Given the description of an element on the screen output the (x, y) to click on. 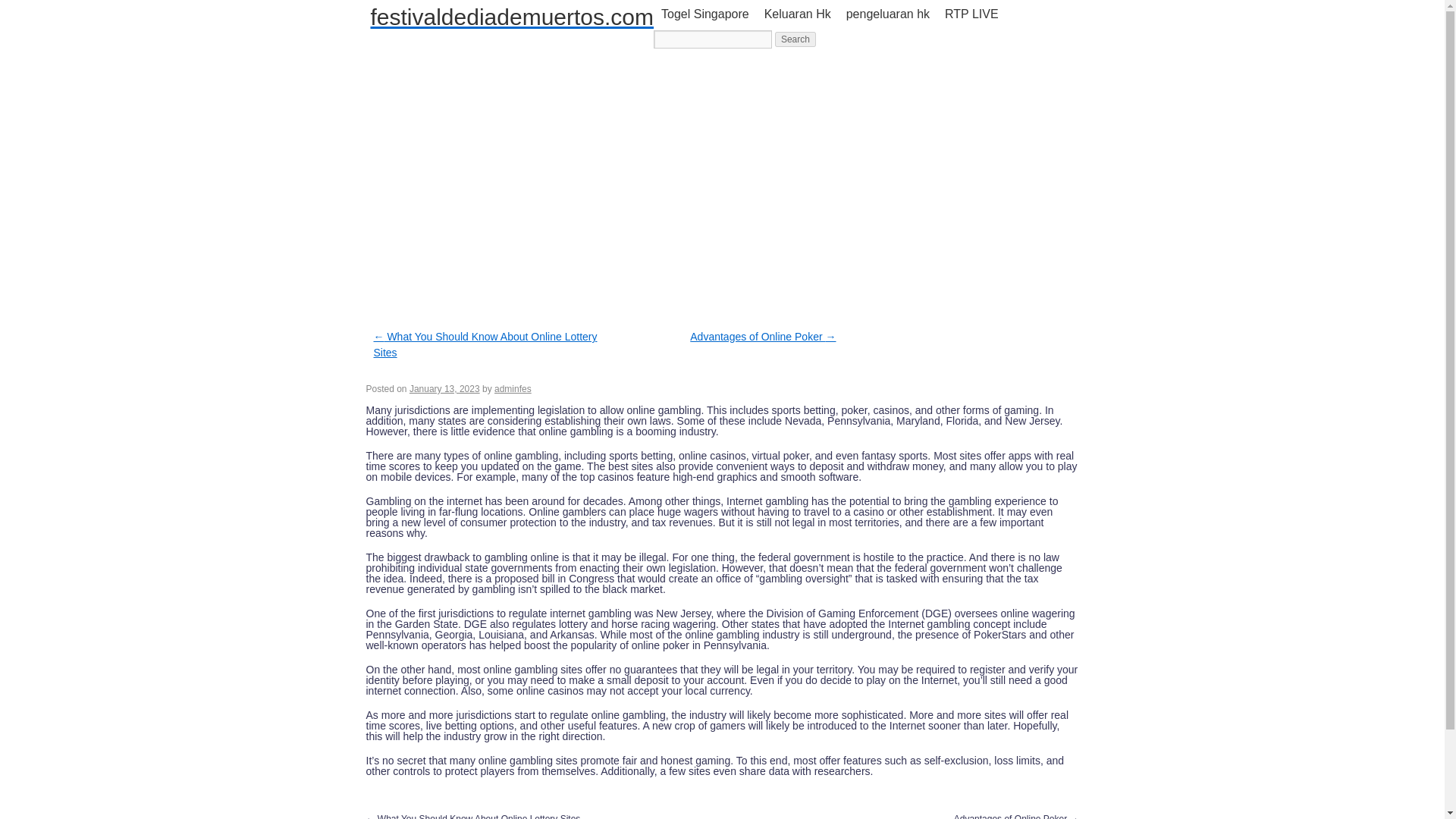
January 13, 2023 (444, 388)
festivaldediademuertos.com (511, 16)
1:46 am (444, 388)
Search (794, 38)
Search (794, 38)
View all posts by adminfes (513, 388)
pengeluaran hk (887, 14)
RTP LIVE (971, 14)
Togel Singapore (705, 14)
adminfes (513, 388)
Keluaran Hk (797, 14)
